Given the description of an element on the screen output the (x, y) to click on. 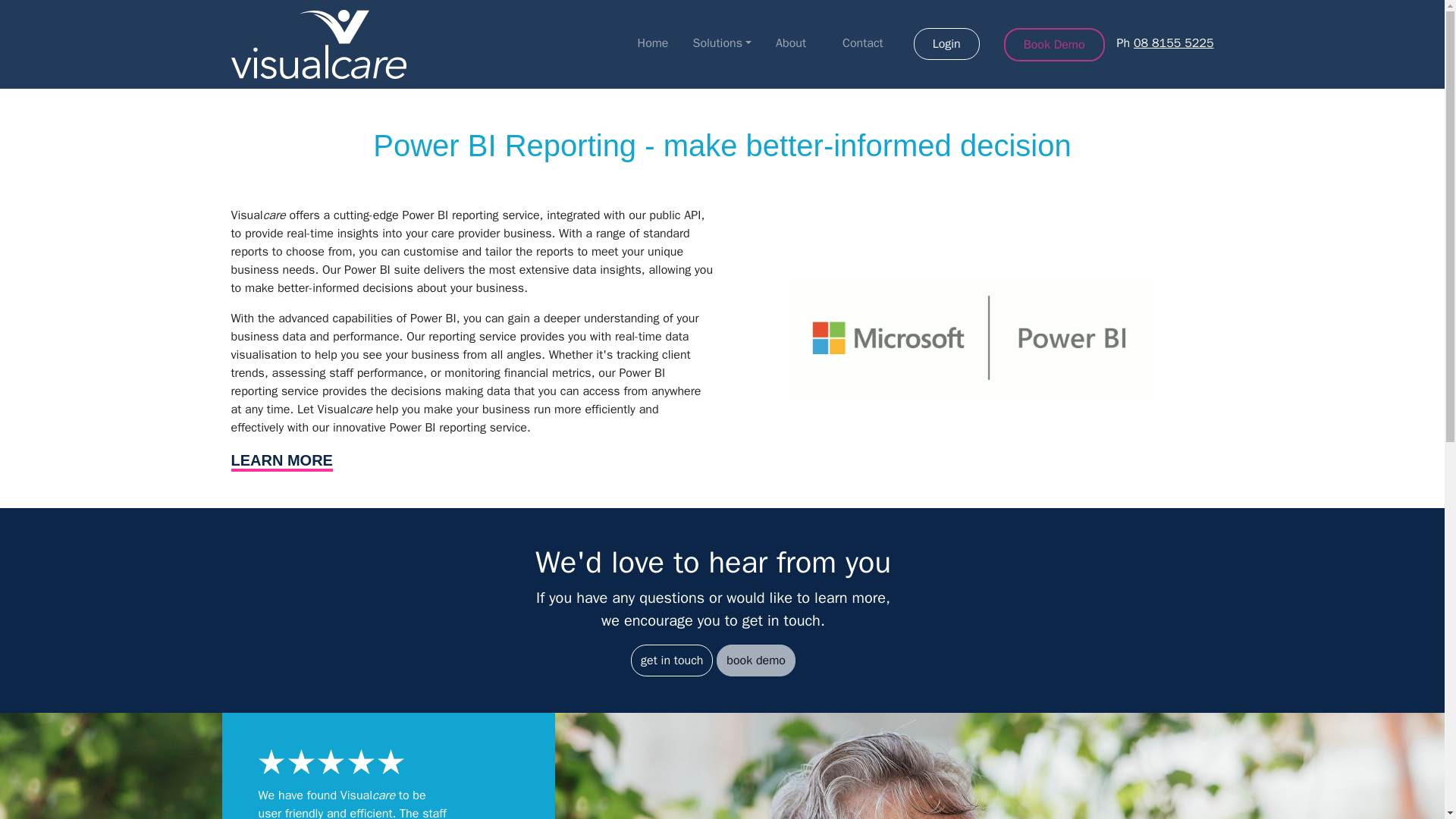
Book Demo (1054, 44)
Home (653, 42)
book demo (755, 660)
LEARN MORE (280, 461)
08 8155 5225 (1174, 43)
Login (946, 43)
About (791, 42)
get in touch (671, 660)
Contact (862, 42)
Solutions (721, 42)
